Given the description of an element on the screen output the (x, y) to click on. 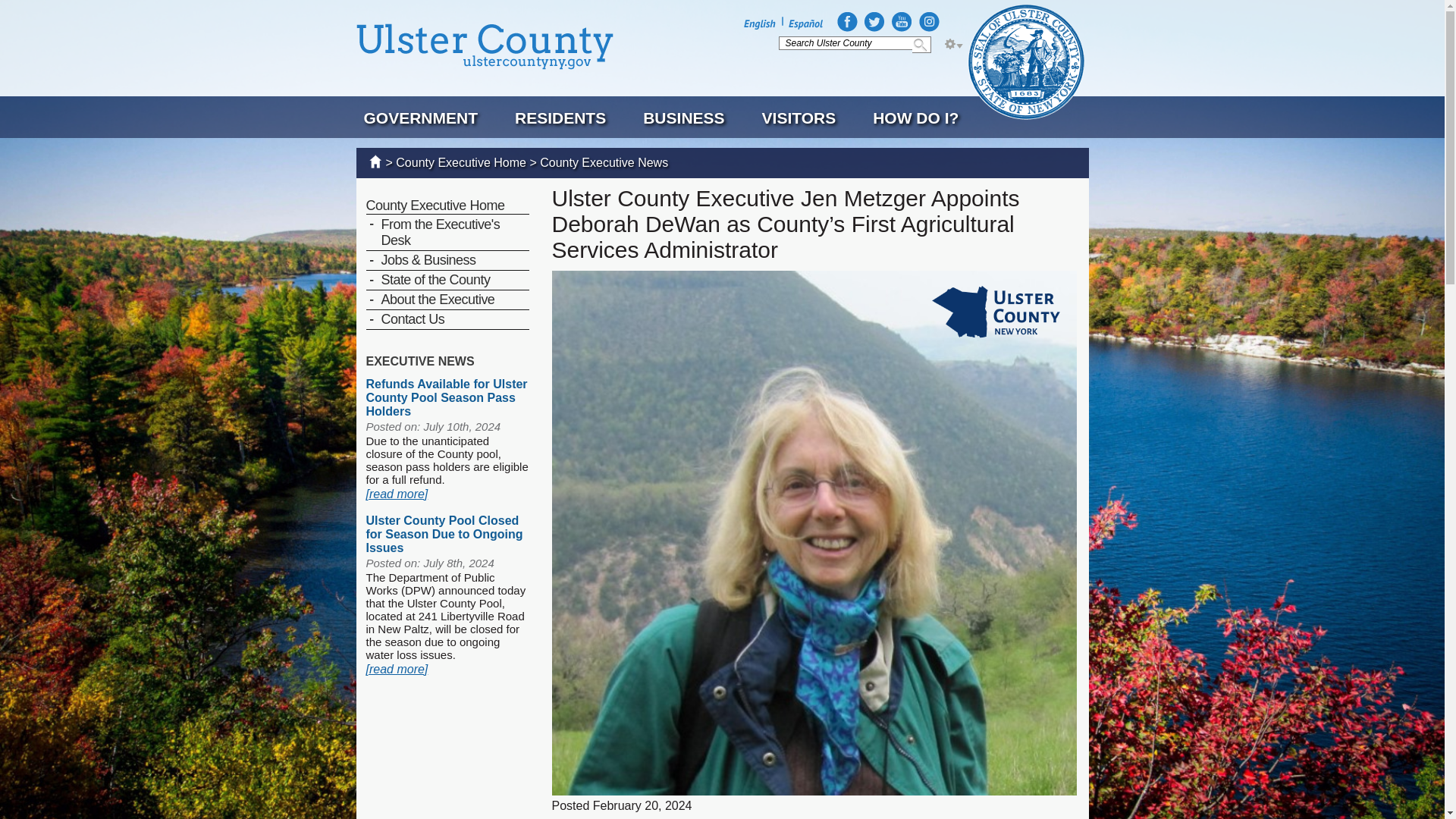
Facebook (847, 21)
RESIDENTS (559, 118)
D (951, 43)
BUSINESS (683, 118)
VISITORS (799, 118)
Search (921, 44)
GOVERNMENT (421, 118)
Ulster County Executive's Facebook Page (847, 21)
Ulster County Executive's YouTube Page (901, 21)
Instagram (928, 21)
Home (484, 46)
Ulster County Executive's Instagram Page (928, 21)
Advanced Search (951, 43)
HOW DO I? (915, 118)
Search (921, 44)
